Given the description of an element on the screen output the (x, y) to click on. 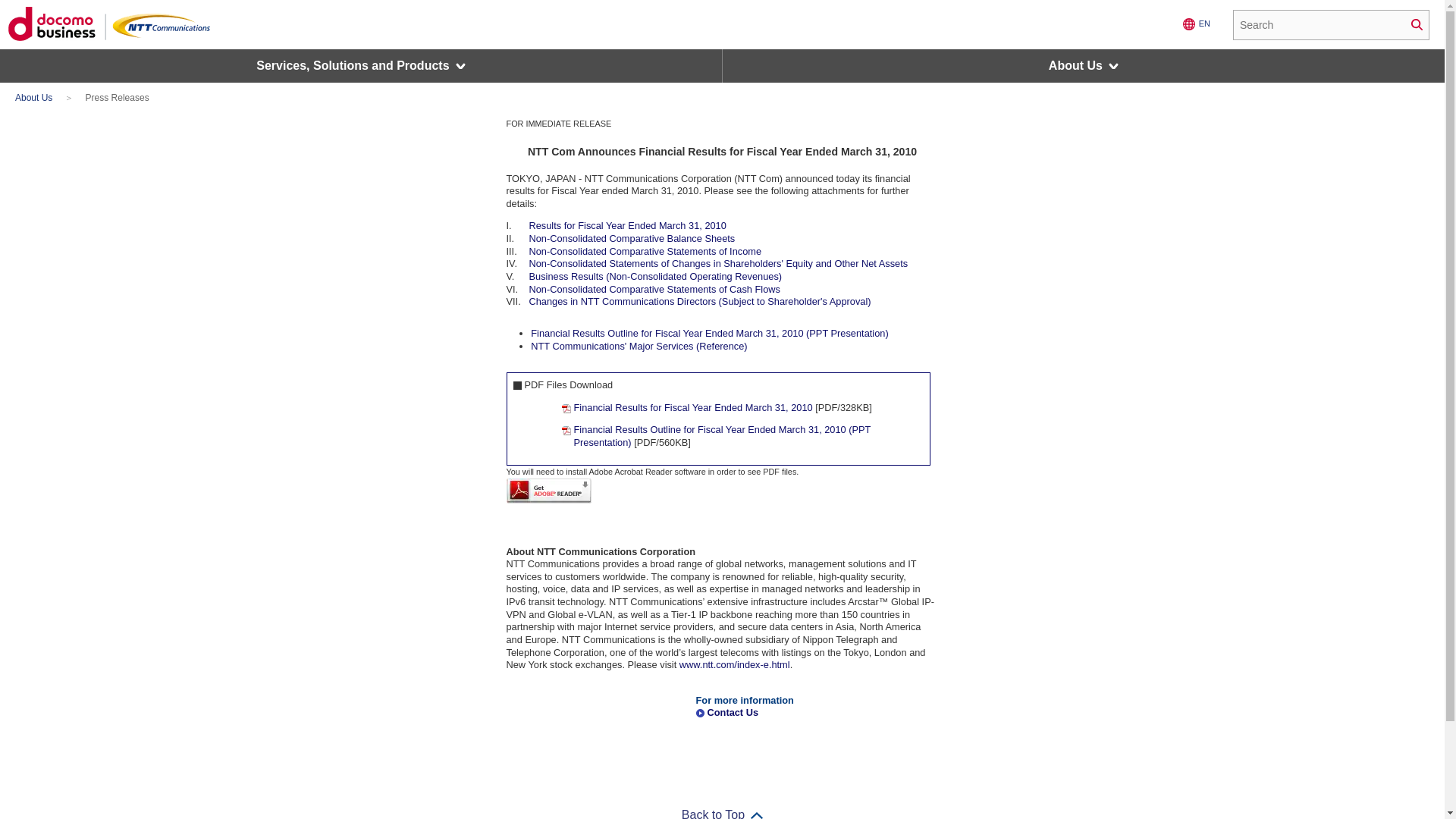
EN (1195, 24)
Input word here (1330, 24)
EN (1195, 24)
